Given the description of an element on the screen output the (x, y) to click on. 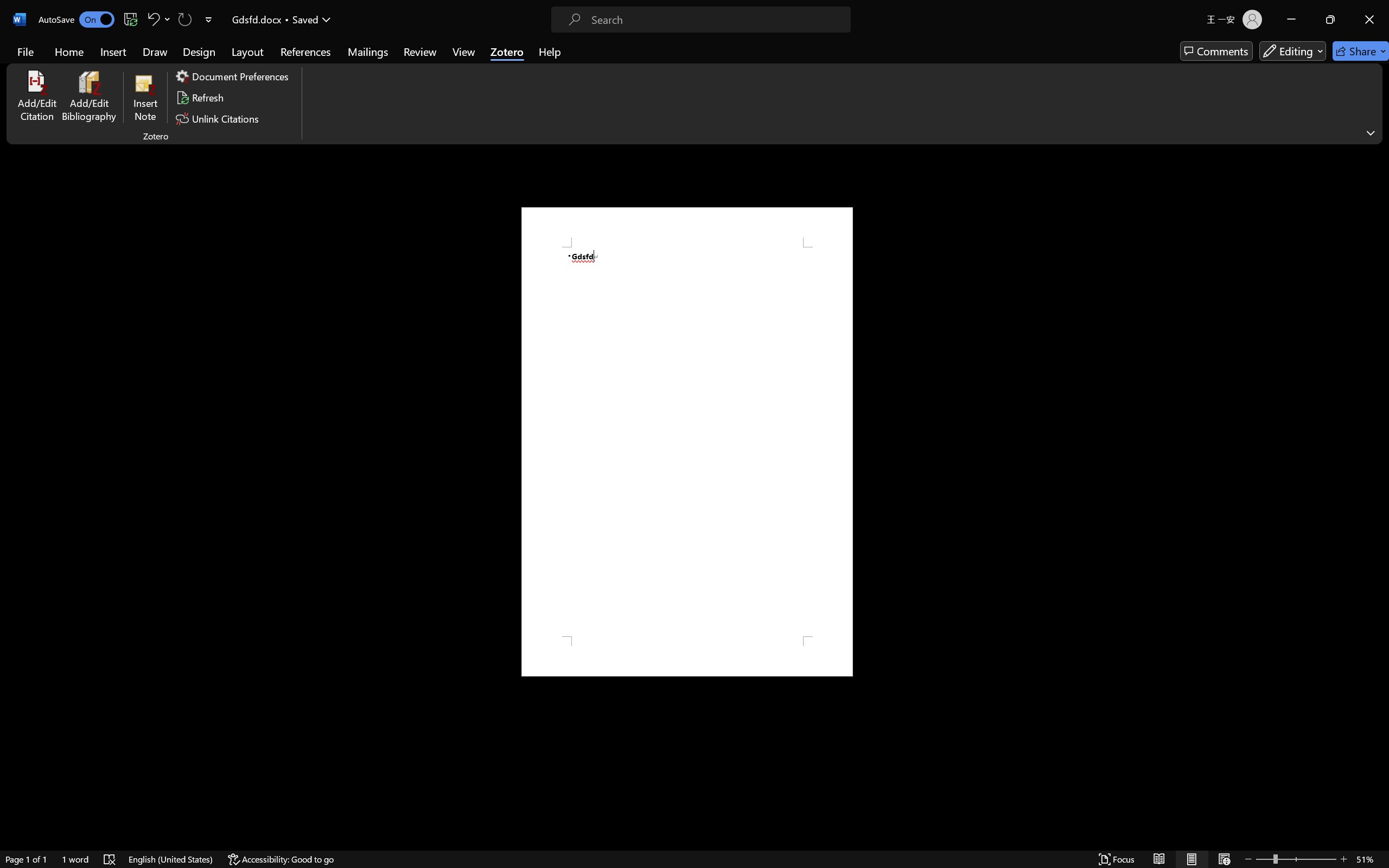
Page 1 content (686, 441)
